Given the description of an element on the screen output the (x, y) to click on. 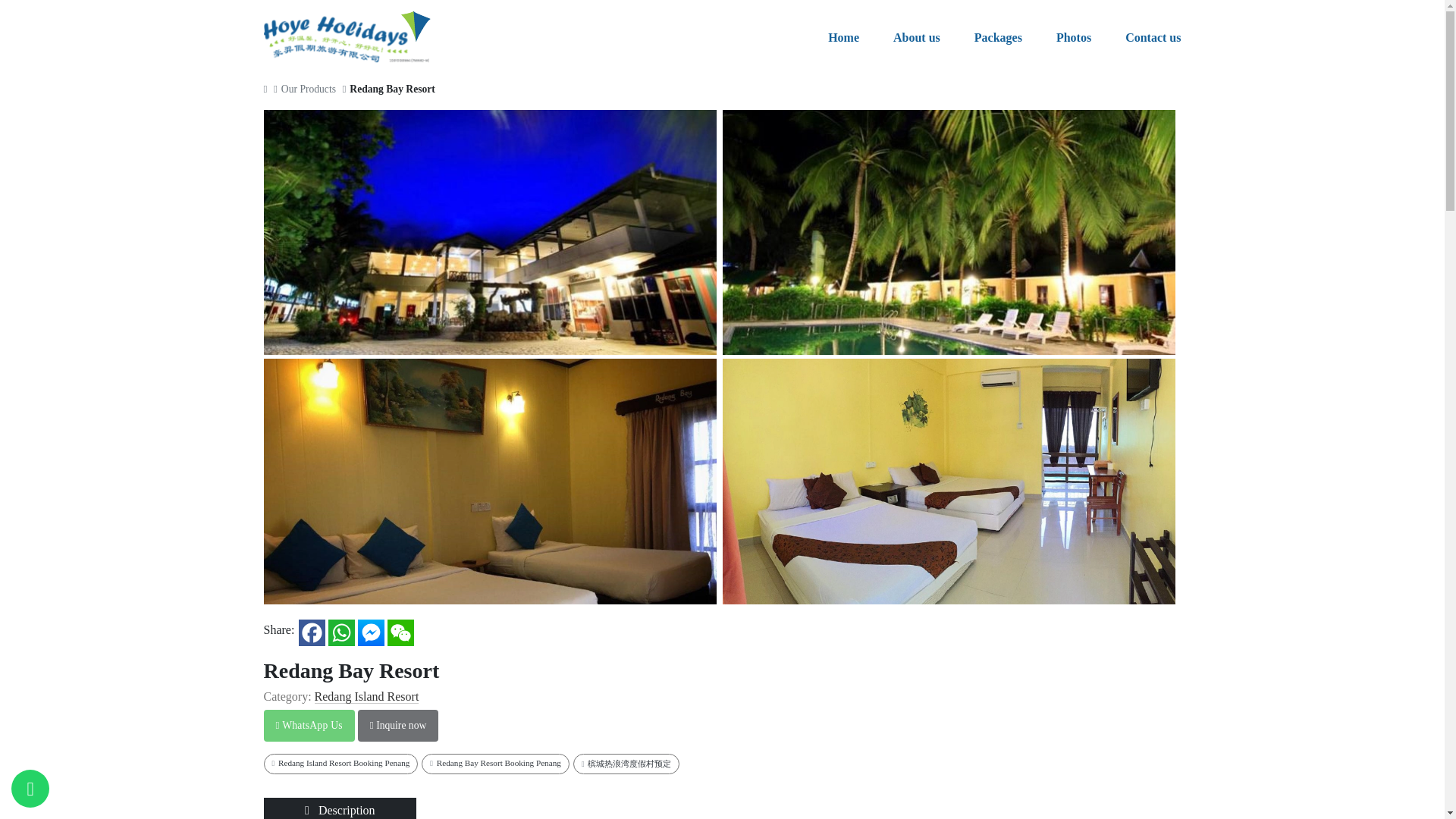
Redang Island Resort (366, 696)
Inquire now (398, 726)
Home (843, 37)
Redang Bay Resort (392, 89)
Photos (1073, 37)
Contact us (1152, 37)
WhatsApp Us (309, 726)
Redang Bay Resort (492, 233)
Inquire now (398, 726)
Home (843, 37)
Redang Bay Resort (951, 233)
Our Products (310, 89)
Packages (997, 37)
Photos (1073, 37)
About us (917, 37)
